Given the description of an element on the screen output the (x, y) to click on. 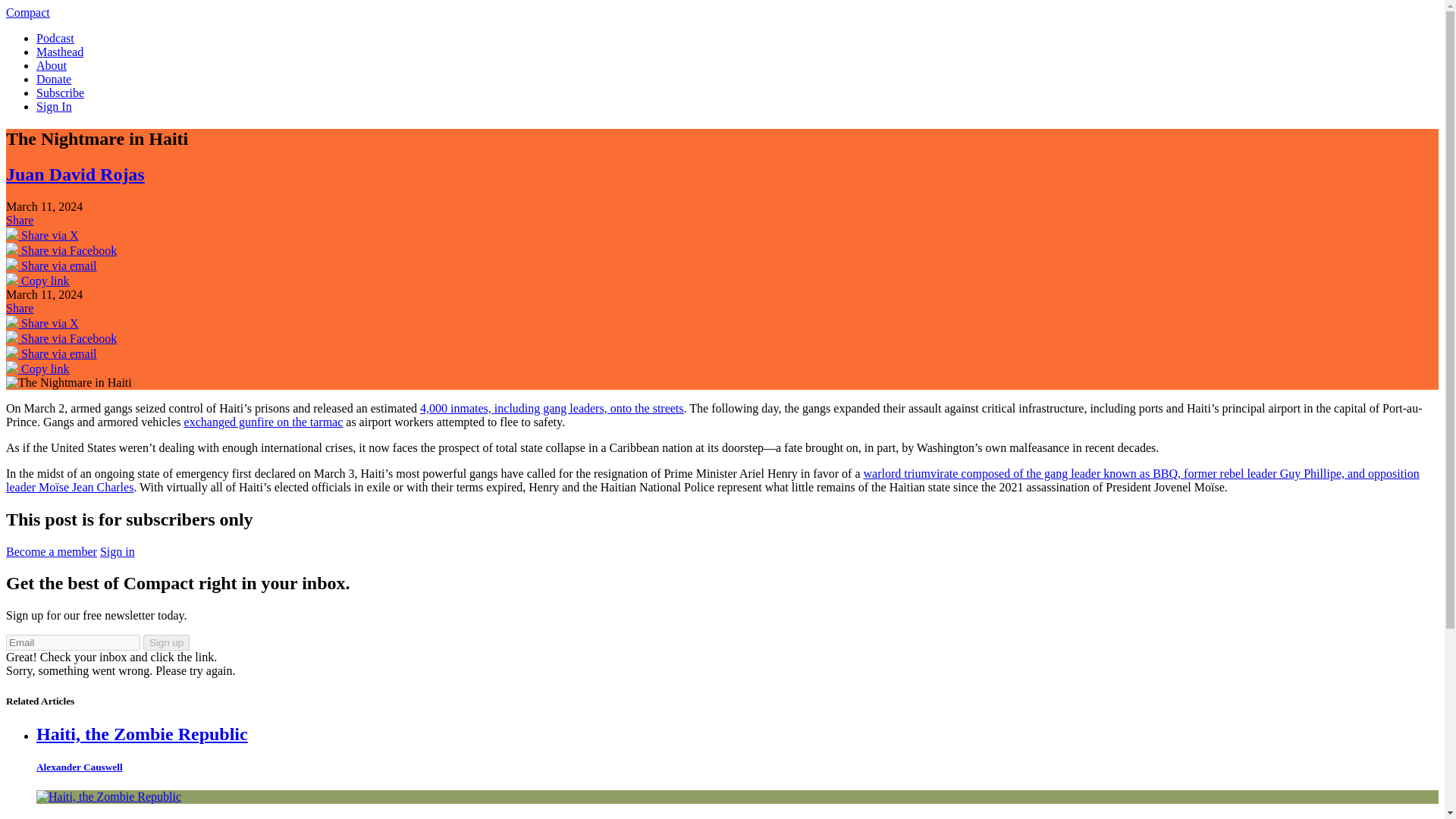
Copy link (37, 280)
Share via email (51, 353)
Juan David Rojas (74, 174)
Podcast (55, 38)
4,000 inmates, including gang leaders, onto the streets (551, 408)
Share via Facebook (60, 338)
Donate (53, 78)
exchanged gunfire on the tarmac (263, 421)
Become a member (51, 551)
About (51, 65)
Share via X (41, 235)
Sign up (165, 642)
Copy link (37, 368)
Masthead (59, 51)
Share (19, 308)
